Given the description of an element on the screen output the (x, y) to click on. 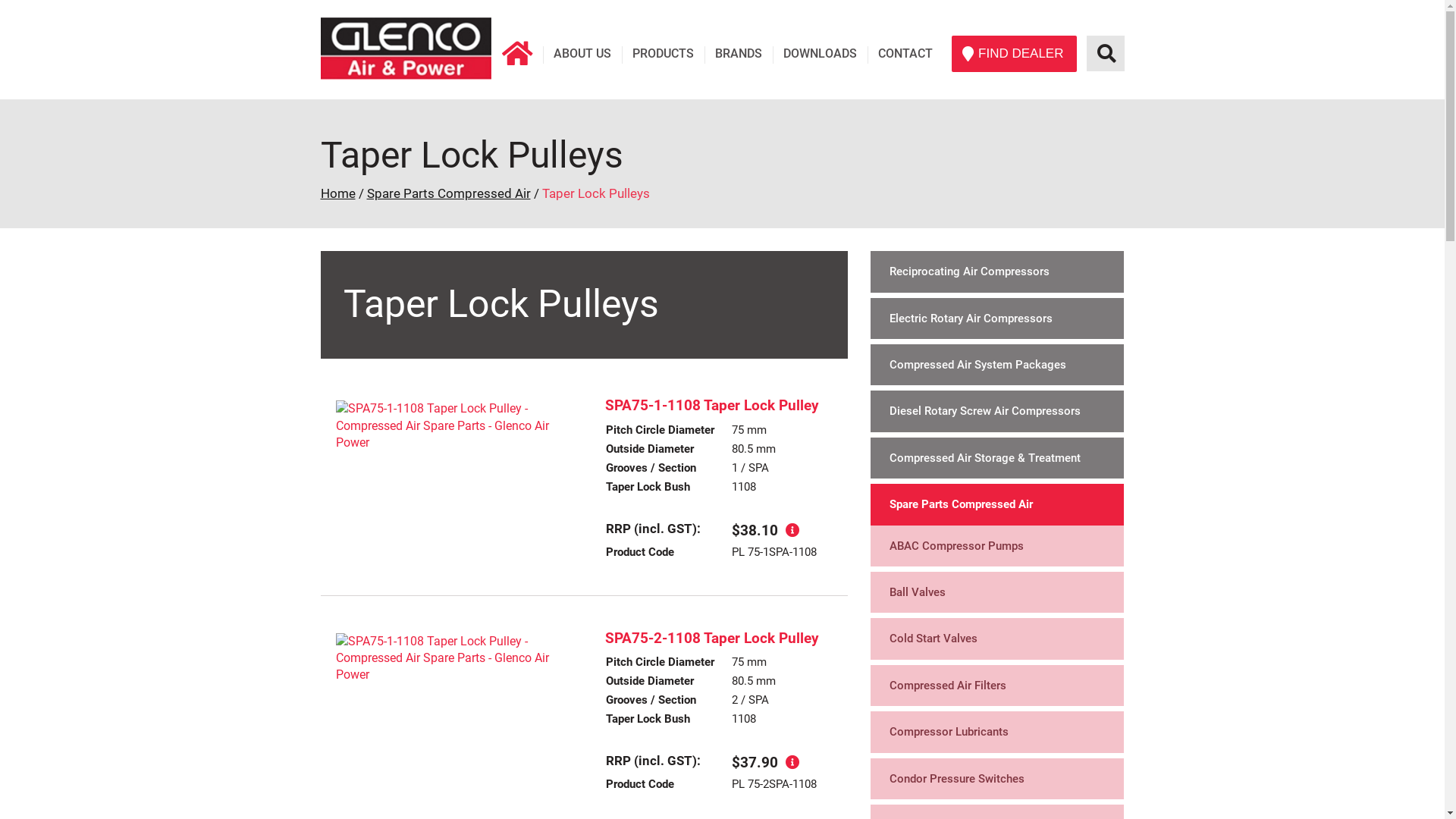
DOWNLOADS Element type: text (820, 53)
ABAC Compressor Pumps Element type: text (996, 545)
BRANDS Element type: text (738, 53)
Cold Start Valves Element type: text (996, 638)
HOME Element type: text (516, 53)
Reciprocating Air Compressors Element type: text (996, 271)
Spare Parts Compressed Air Element type: text (996, 503)
Home Element type: text (337, 192)
Compressor Lubricants Element type: text (996, 731)
FIND DEALER Element type: text (1013, 53)
PRODUCTS Element type: text (663, 53)
Diesel Rotary Screw Air Compressors Element type: text (996, 410)
Spare Parts Compressed Air Element type: text (448, 192)
Condor Pressure Switches Element type: text (996, 778)
Compressed Air Storage & Treatment Element type: text (996, 457)
CONTACT Element type: text (905, 53)
Ball Valves Element type: text (996, 591)
Compressed Air System Packages Element type: text (996, 364)
Electric Rotary Air Compressors Element type: text (996, 318)
ABOUT US Element type: text (582, 53)
Compressed Air Filters Element type: text (996, 685)
